Given the description of an element on the screen output the (x, y) to click on. 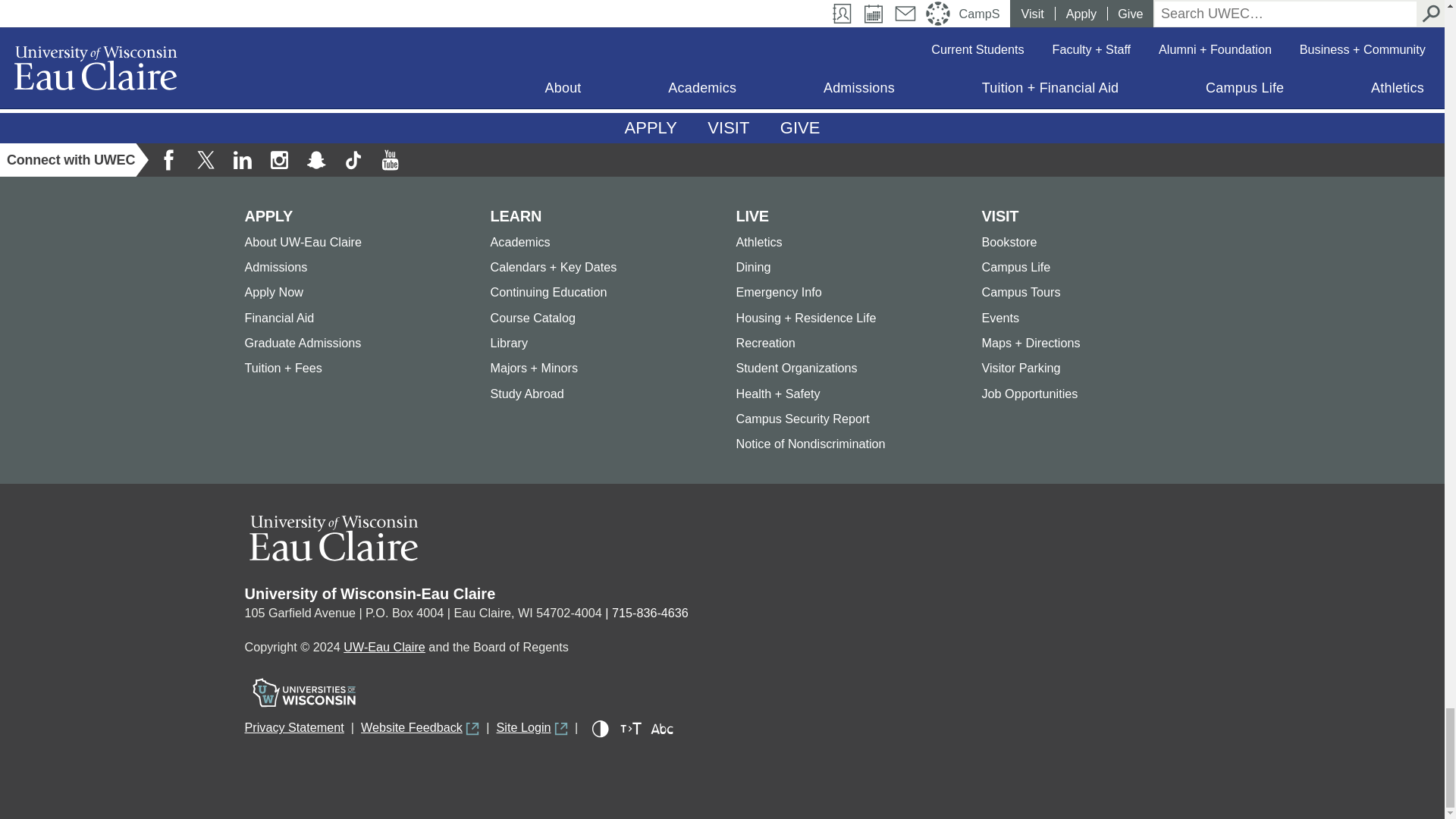
Plan a Visit (728, 128)
Like us on Facebook (169, 159)
Connect with us on LinkedIn (242, 159)
Subscribe to our YouTube channel (389, 159)
Follow us on Twitter (205, 159)
Give Now (800, 128)
Follow us on TikTok (352, 159)
Follow us on Instagram (278, 159)
Apply Now (650, 128)
Snap with us on Snapchat (316, 159)
